Given the description of an element on the screen output the (x, y) to click on. 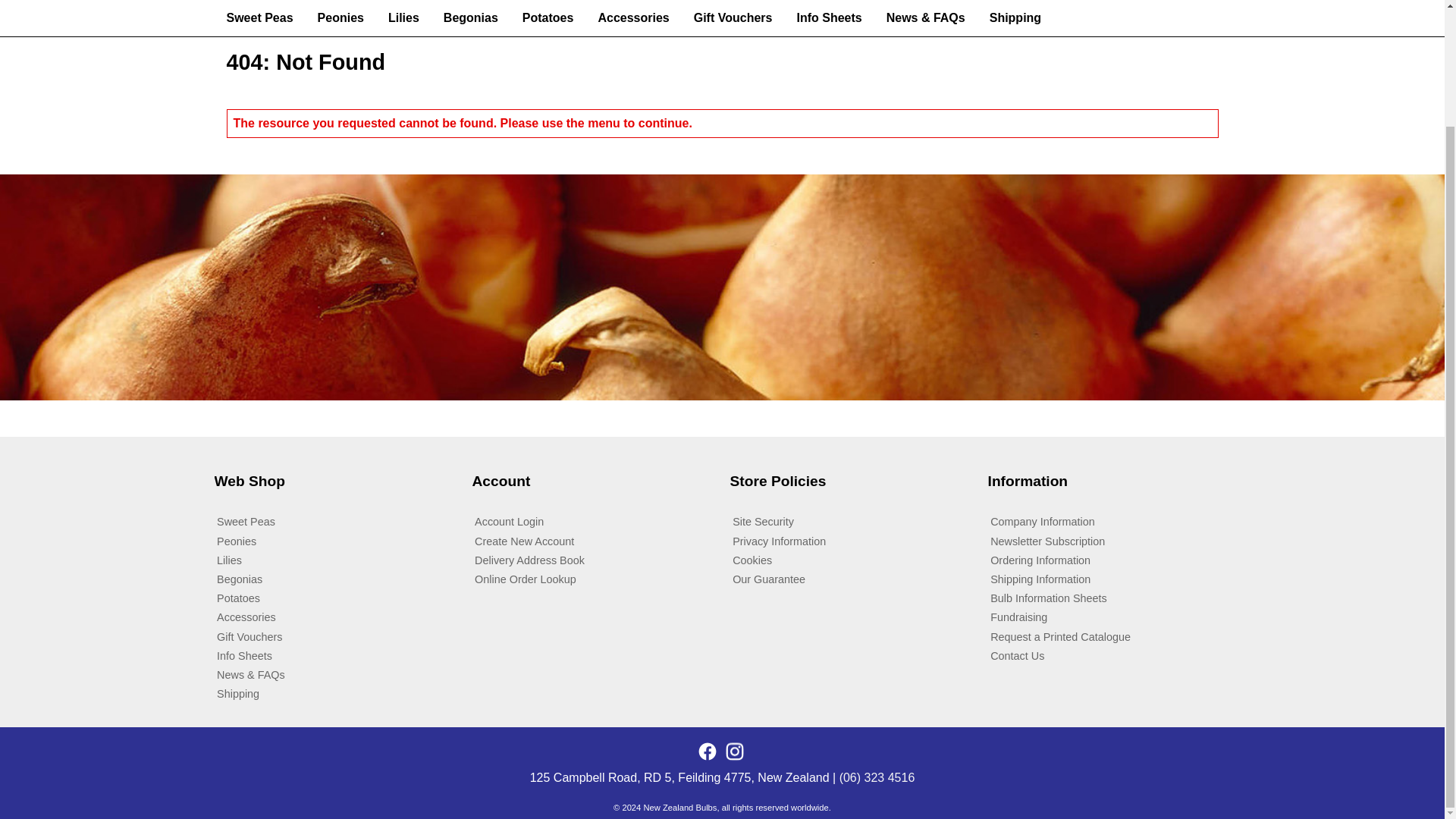
Shipping (1014, 18)
Peonies (340, 18)
Sweet Peas (335, 521)
Sweet Peas (259, 18)
Begonias (470, 18)
Peonies (335, 540)
Sweet Peas (335, 521)
Gift Vouchers (732, 18)
Accessories (633, 18)
Info Sheets (828, 18)
Lilies (335, 559)
Peonies (335, 540)
Lilies (402, 18)
Lilies (335, 559)
Potatoes (548, 18)
